Given the description of an element on the screen output the (x, y) to click on. 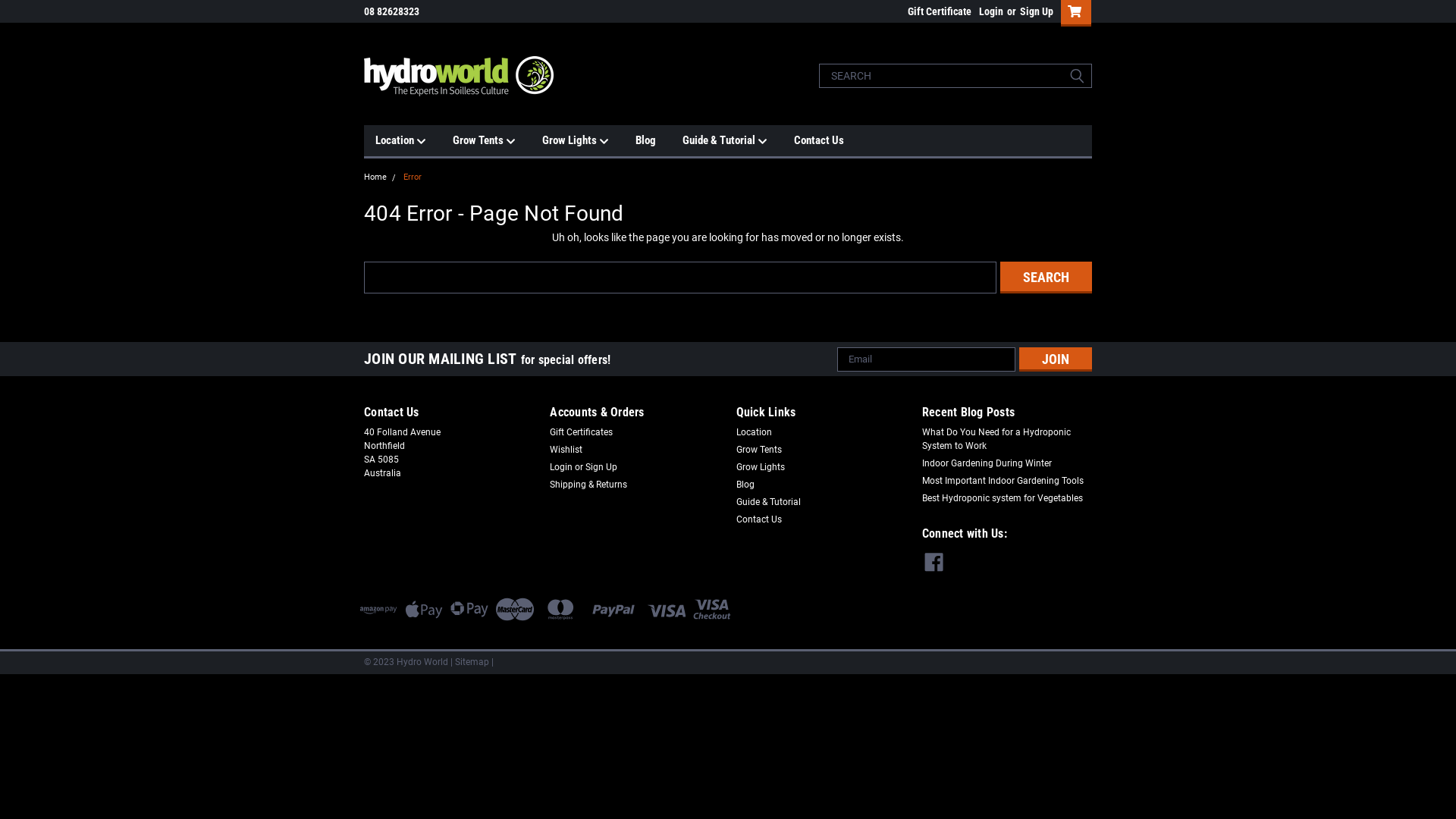
Login Element type: text (560, 466)
Shipping & Returns Element type: text (588, 484)
Grow Tents Element type: text (758, 449)
Location Element type: text (413, 140)
Blog Element type: text (744, 484)
submit Element type: hover (1076, 75)
Gift Certificate Element type: text (935, 11)
What Do You Need for a Hydroponic System to Work Element type: text (1007, 437)
Contact Us Element type: text (831, 140)
Grow Tents Element type: text (497, 140)
Sign Up Element type: text (1034, 11)
Contact Us Element type: text (758, 519)
Grow Lights Element type: text (759, 466)
Home Element type: text (375, 177)
Sitemap Element type: text (472, 661)
Best Hydroponic system for Vegetables Element type: text (1002, 498)
Location Element type: text (753, 431)
Search Element type: text (1046, 276)
Guide & Tutorial Element type: text (767, 501)
Guide & Tutorial Element type: text (737, 140)
Blog Element type: text (658, 140)
Gift Certificates Element type: text (580, 431)
Indoor Gardening During Winter Element type: text (986, 463)
Login Element type: text (991, 11)
Hydro World Element type: hover (458, 76)
Grow Lights Element type: text (588, 140)
Most Important Indoor Gardening Tools Element type: text (1002, 479)
Wishlist Element type: text (565, 449)
Join Element type: text (1055, 359)
Error Element type: text (412, 177)
Sign Up Element type: text (601, 466)
